Given the description of an element on the screen output the (x, y) to click on. 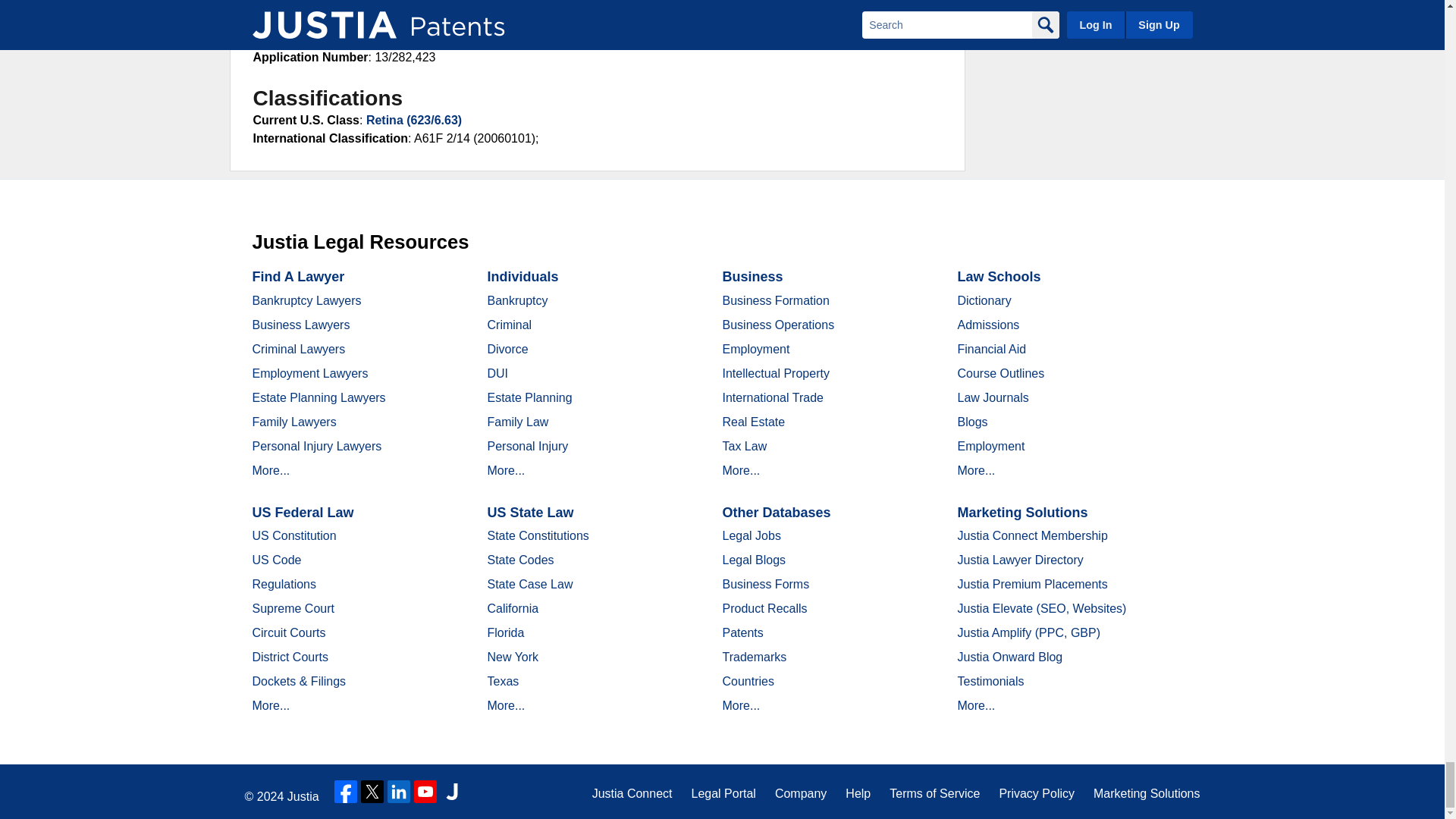
Facebook (345, 791)
LinkedIn (398, 791)
Twitter (372, 791)
Justia Lawyer Directory (452, 791)
9114004 (404, 4)
YouTube (424, 791)
